Given the description of an element on the screen output the (x, y) to click on. 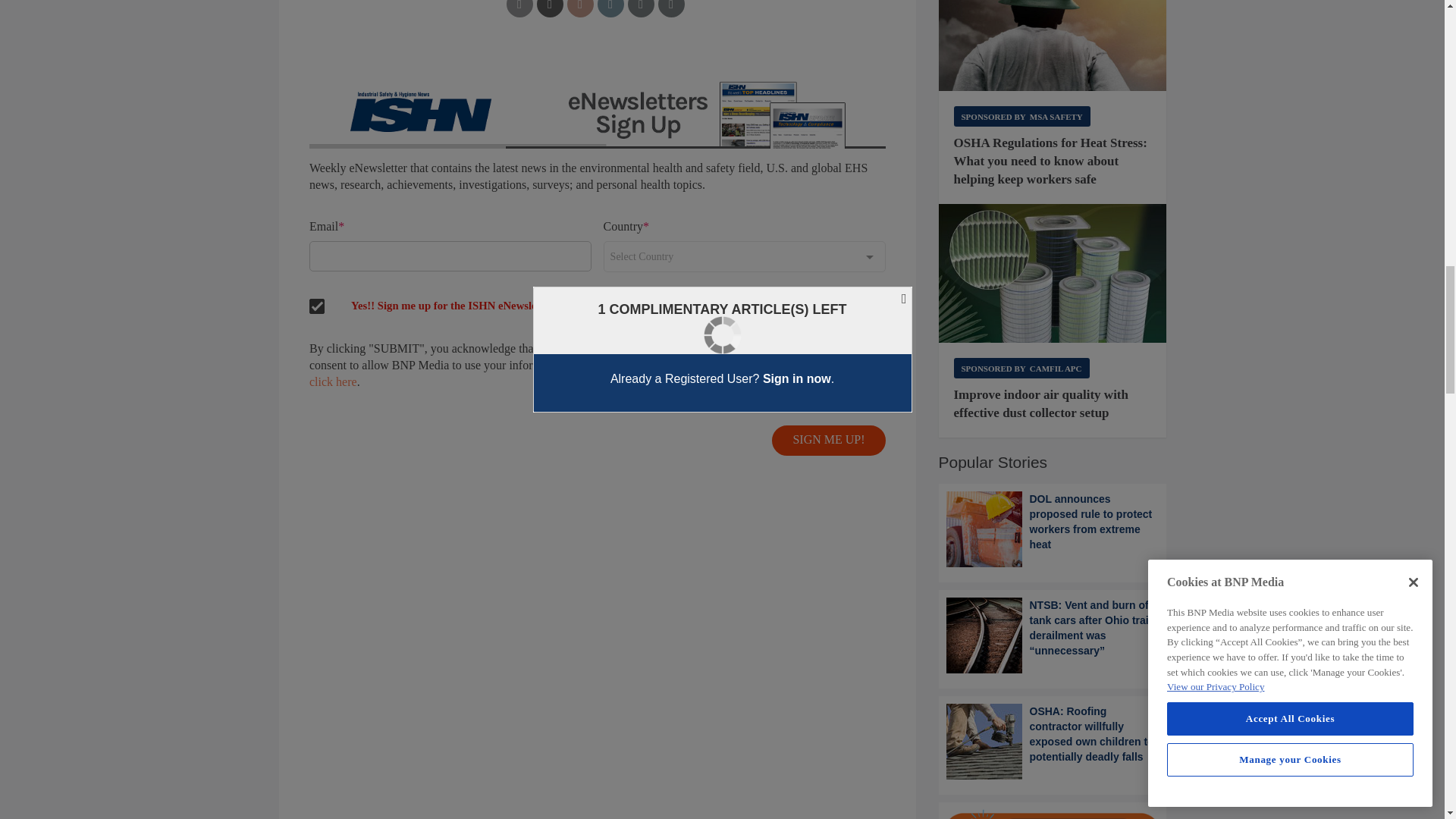
Sponsored by Camfil APC (1021, 367)
dust collector filters and media (1052, 273)
Sponsored by MSA Safety (1021, 116)
man working in summer heat (1052, 45)
